Given the description of an element on the screen output the (x, y) to click on. 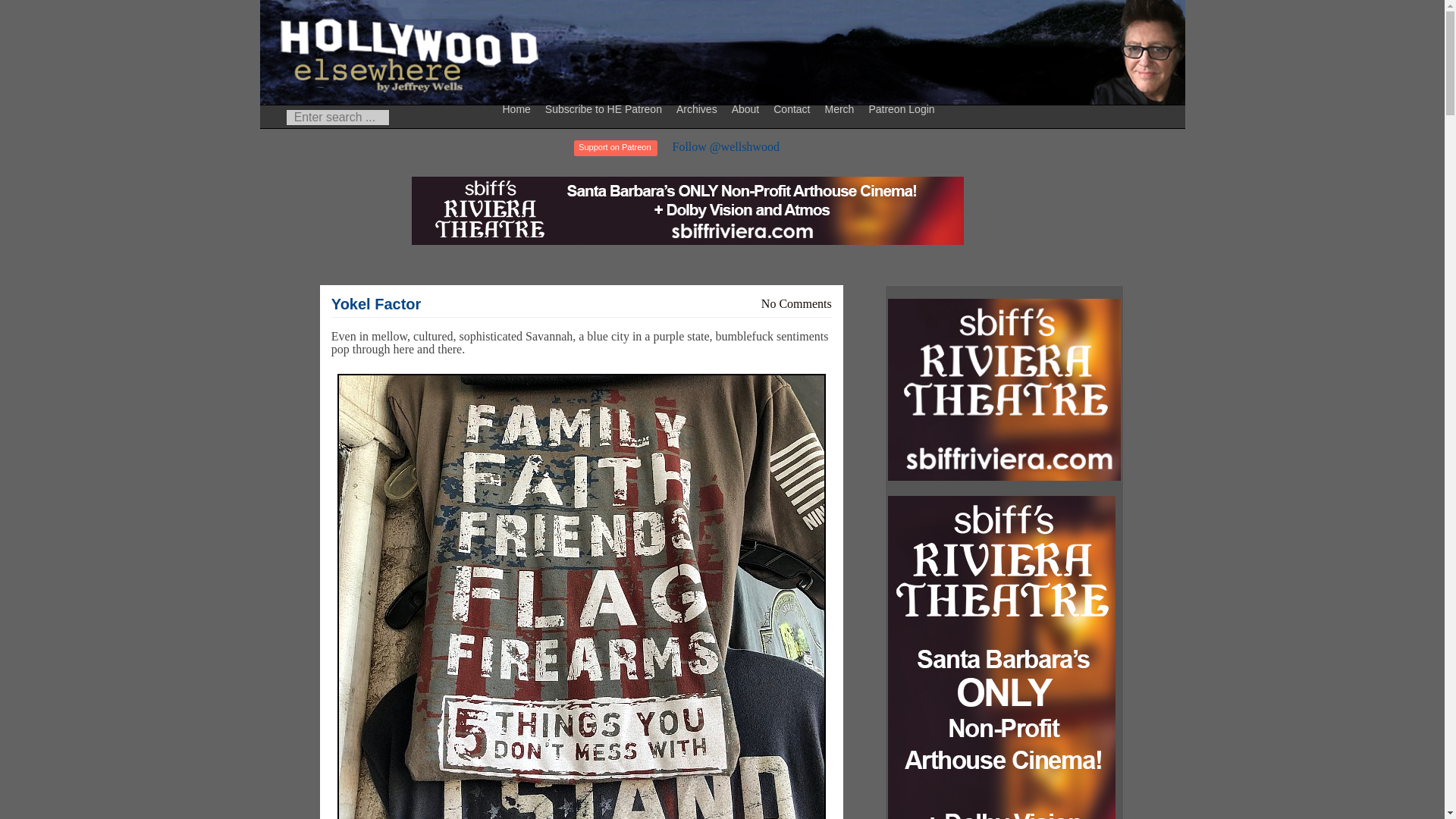
Support on Patreon (614, 148)
About (747, 108)
Archives (698, 108)
Contact (793, 108)
Permanent Link to Yokel Factor (376, 303)
Home (519, 108)
No Comments (796, 303)
Merch (841, 108)
Subscribe to HE Patreon (605, 108)
Yokel Factor (376, 303)
